Given the description of an element on the screen output the (x, y) to click on. 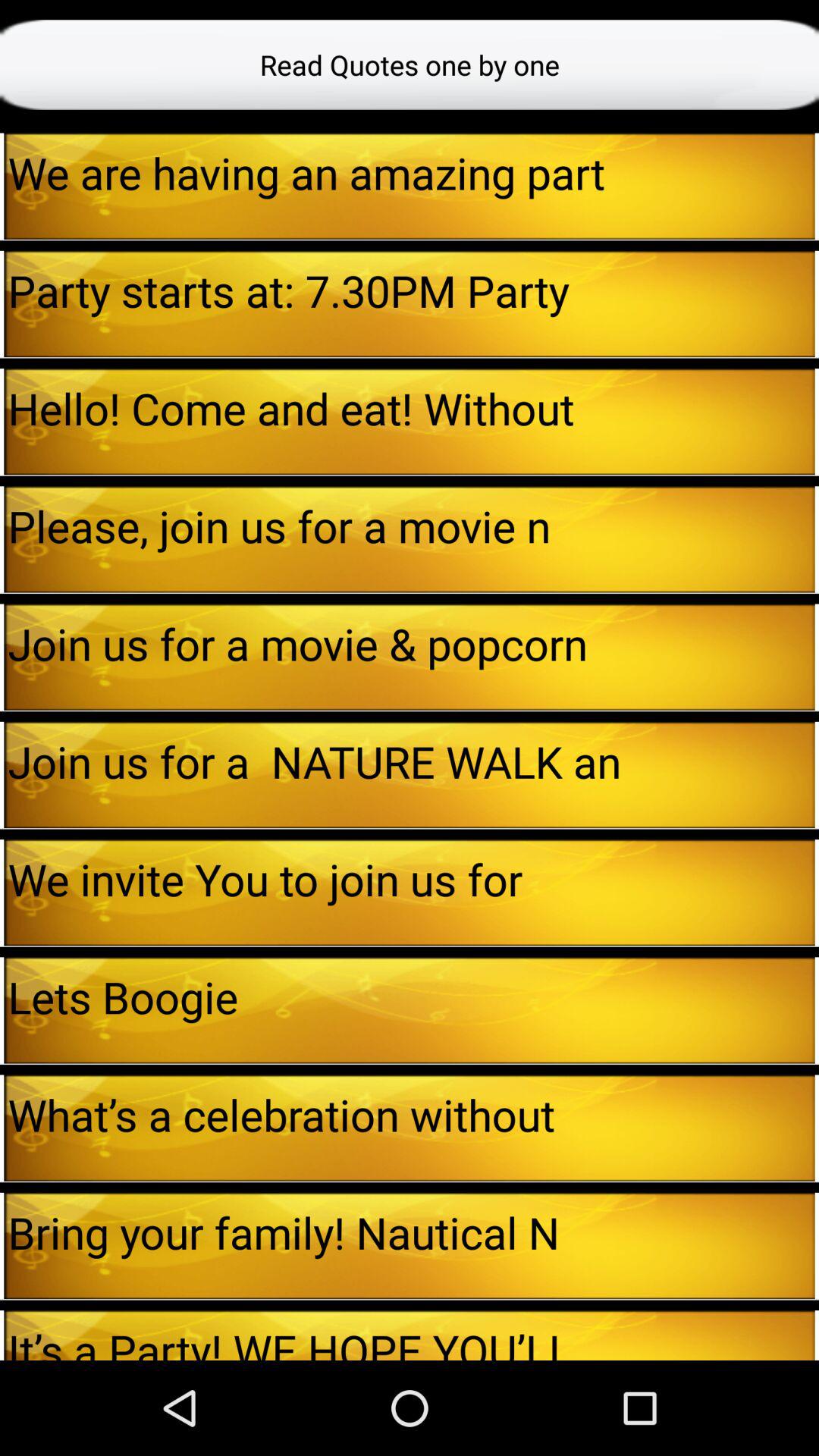
flip to hello come and icon (411, 407)
